Given the description of an element on the screen output the (x, y) to click on. 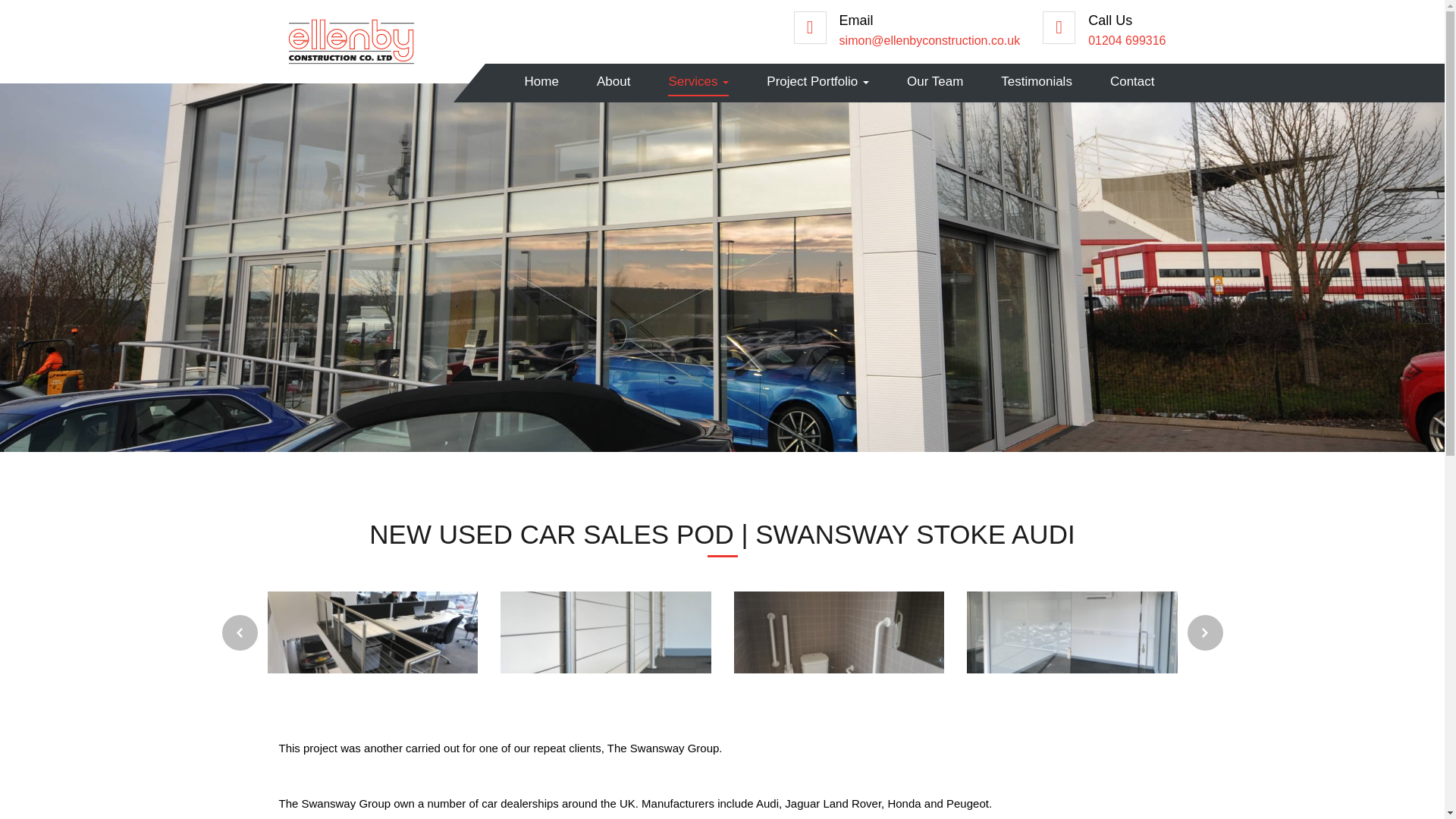
Our Team (934, 81)
Home (541, 81)
Testimonials (1036, 81)
About (613, 81)
Contact (1131, 81)
01204 699316 (1126, 40)
Services (698, 81)
Project Portfolio (818, 81)
